Given the description of an element on the screen output the (x, y) to click on. 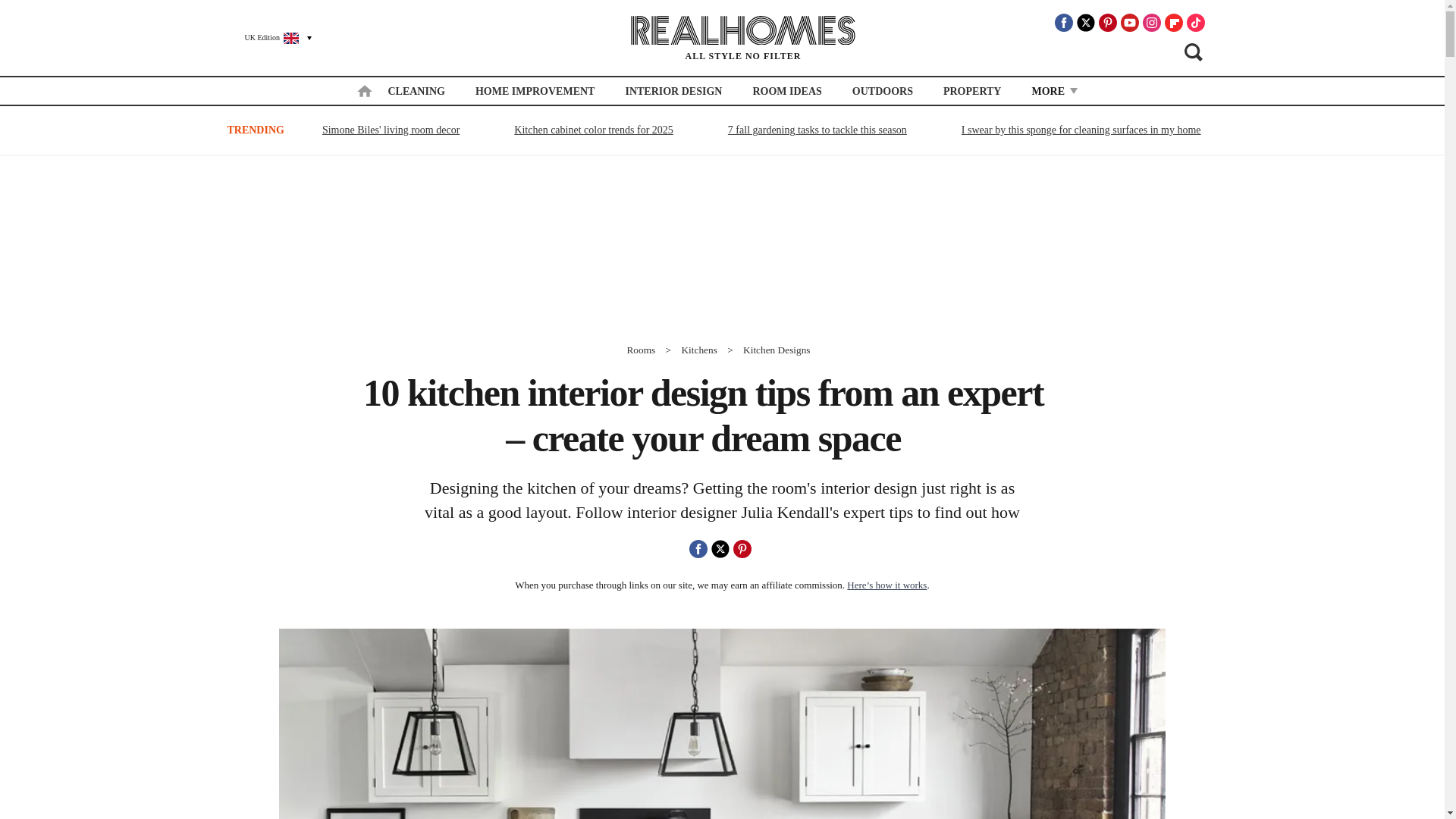
Kitchens (698, 349)
7 fall gardening tasks to tackle this season (817, 129)
OUTDOORS (881, 90)
HOME IMPROVEMENT (535, 90)
PROPERTY (972, 90)
ROOM IDEAS (786, 90)
Kitchen cabinet color trends for 2025 (593, 129)
UK Edition (271, 37)
CLEANING (415, 90)
ALL STYLE NO FILTER (742, 38)
